Given the description of an element on the screen output the (x, y) to click on. 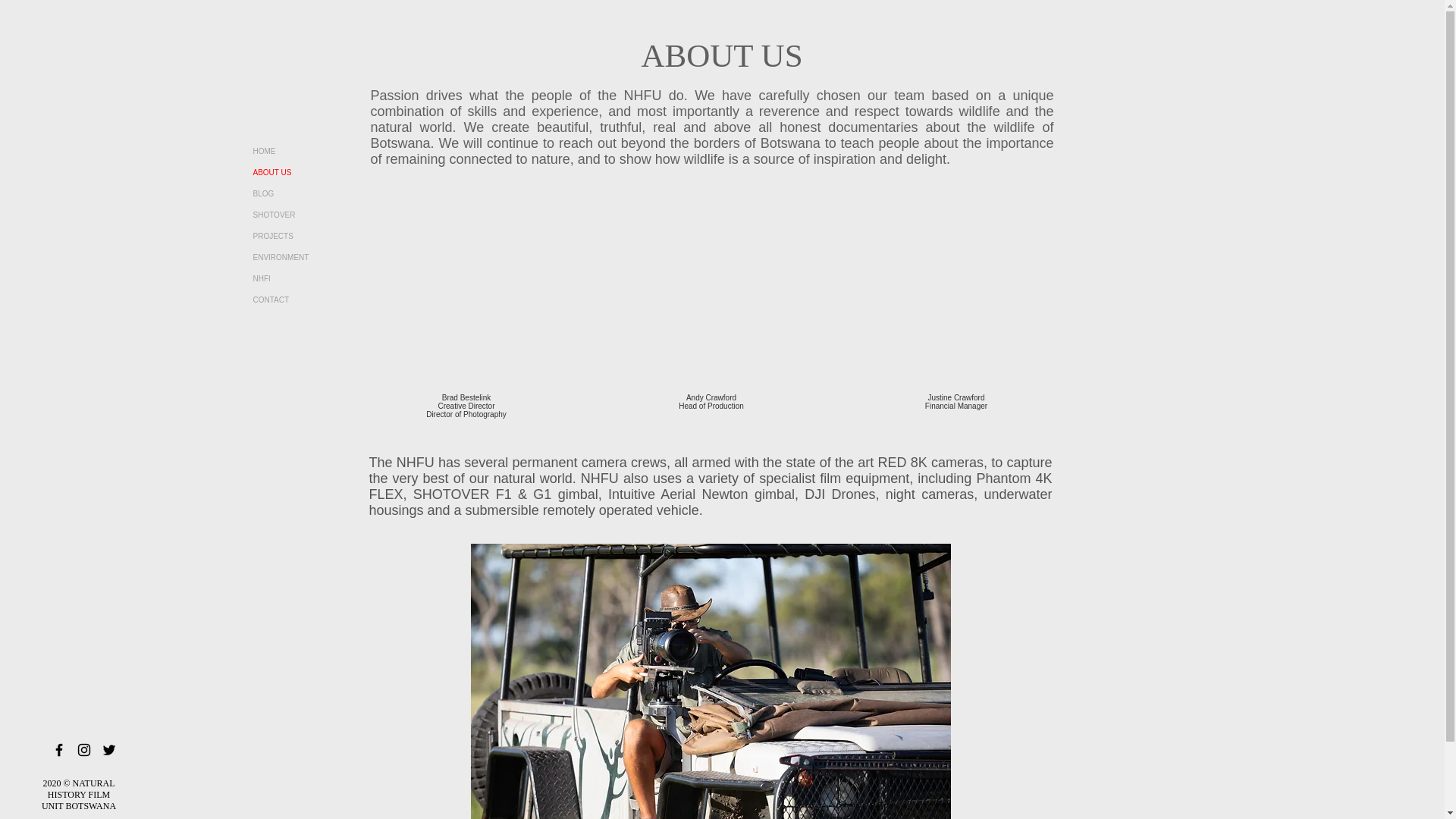
NATURAL HISTORY FILM UNIT (78, 794)
ENVIRONMENT (307, 257)
BLOG (307, 193)
NHFI (307, 278)
ABOUT US (307, 172)
HOME (307, 151)
SHOTOVER (307, 215)
PROJECTS (307, 236)
CONTACT (307, 300)
